Given the description of an element on the screen output the (x, y) to click on. 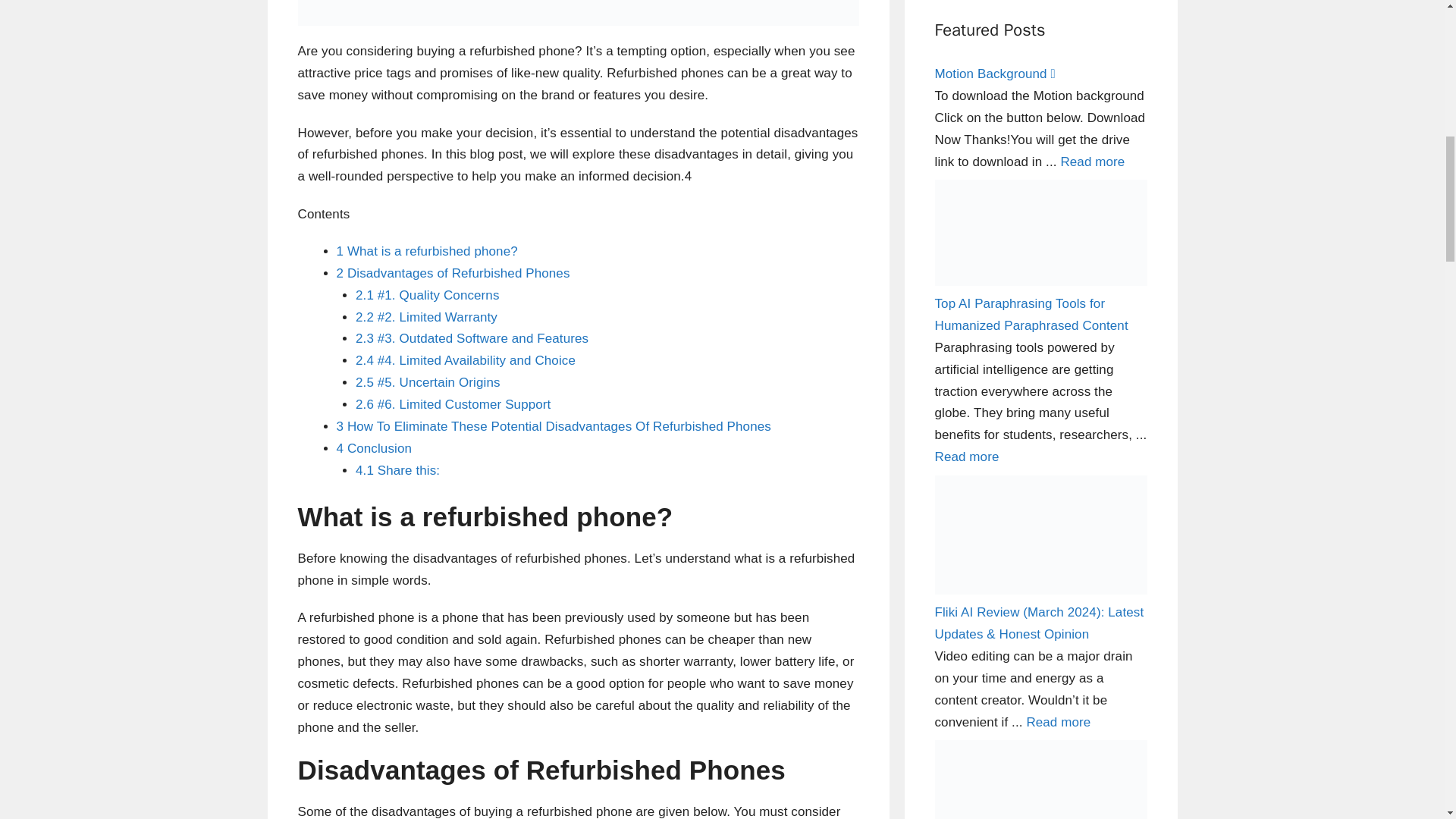
1 What is a refurbished phone? (427, 251)
4 Conclusion (374, 448)
Top AI Paraphrasing Tools for Humanized Paraphrased Content (966, 456)
4.1 Share this: (397, 470)
2 Disadvantages of Refurbished Phones (453, 273)
